Given the description of an element on the screen output the (x, y) to click on. 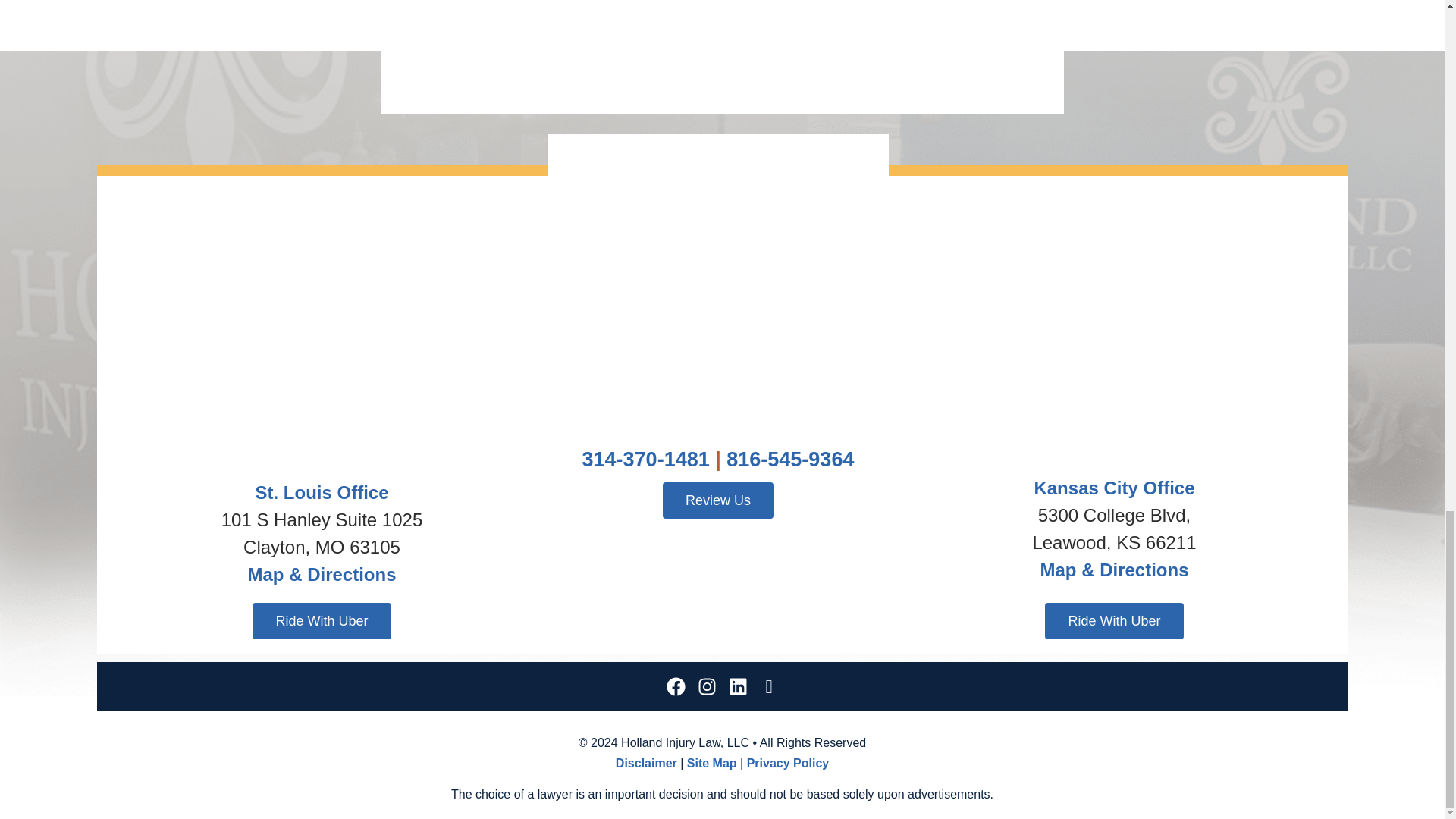
clayton-office-photo-1-reversed 1 - Holland Injury LLC (322, 327)
big-kansascity - Holland Injury LLC (1113, 328)
HollandInjuryLaw-logo-1 1 - Holland Injury LLC (717, 247)
